Given the description of an element on the screen output the (x, y) to click on. 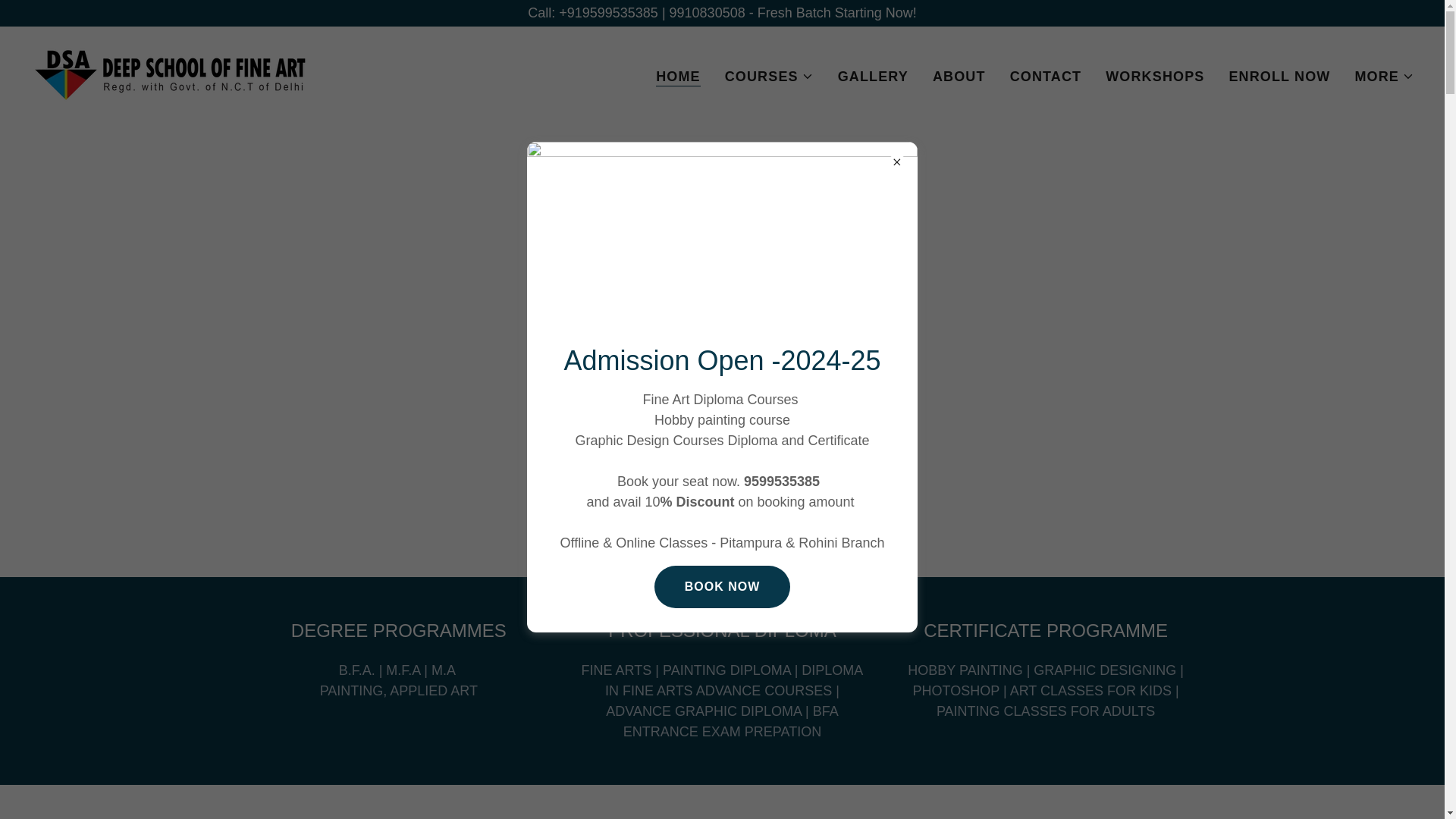
WORKSHOPS (1154, 75)
ENROLL NOW (1279, 75)
ABOUT (959, 75)
COURSES (769, 75)
GALLERY (872, 75)
HOME (678, 75)
CONTACT (1046, 75)
fine art institute (172, 73)
MORE (1383, 75)
